Given the description of an element on the screen output the (x, y) to click on. 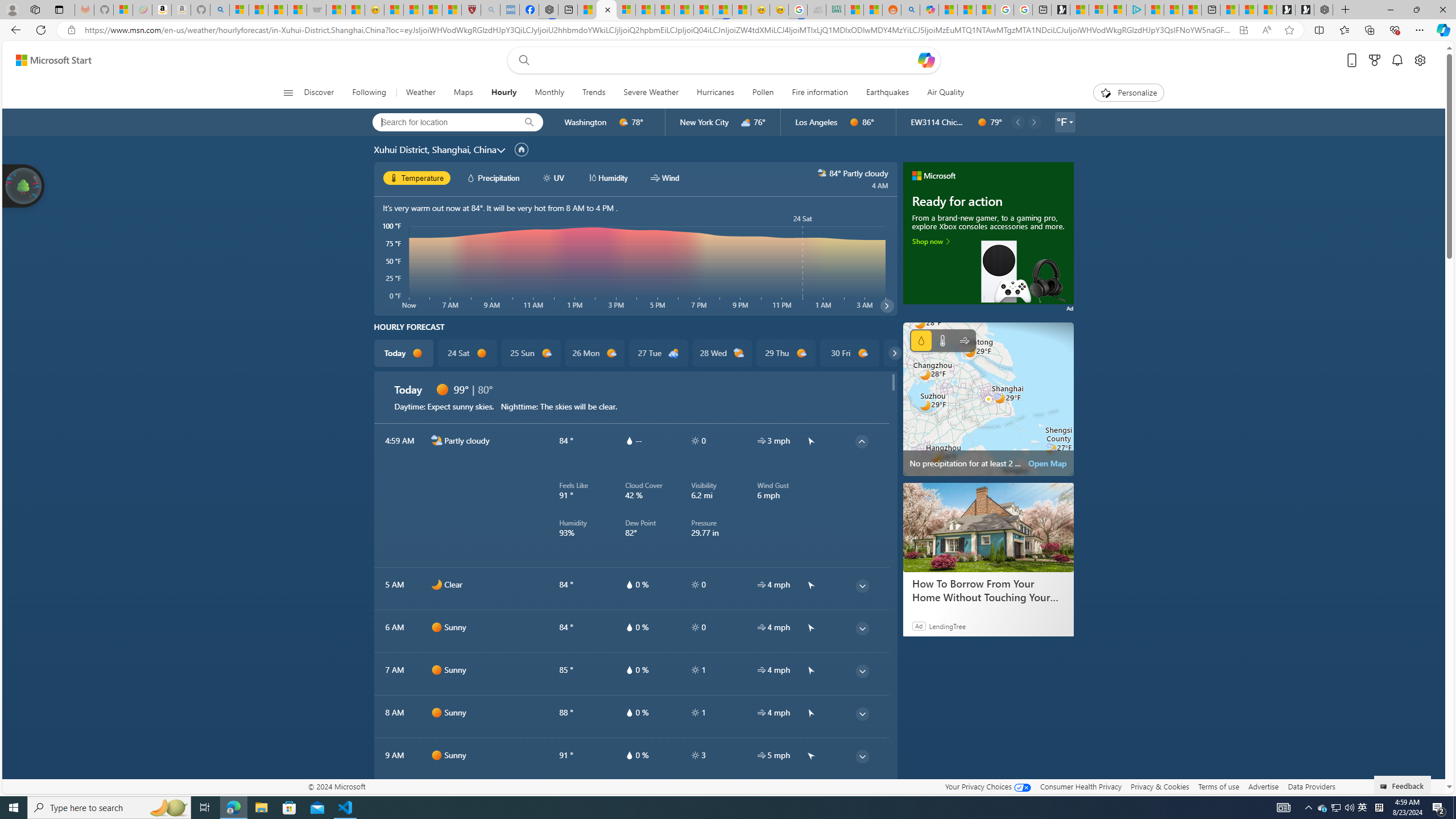
31 Sat d1000 (913, 352)
25 Sun d1000 (530, 352)
Open Map (1047, 463)
Utah sues federal government - Search (910, 9)
